Given the description of an element on the screen output the (x, y) to click on. 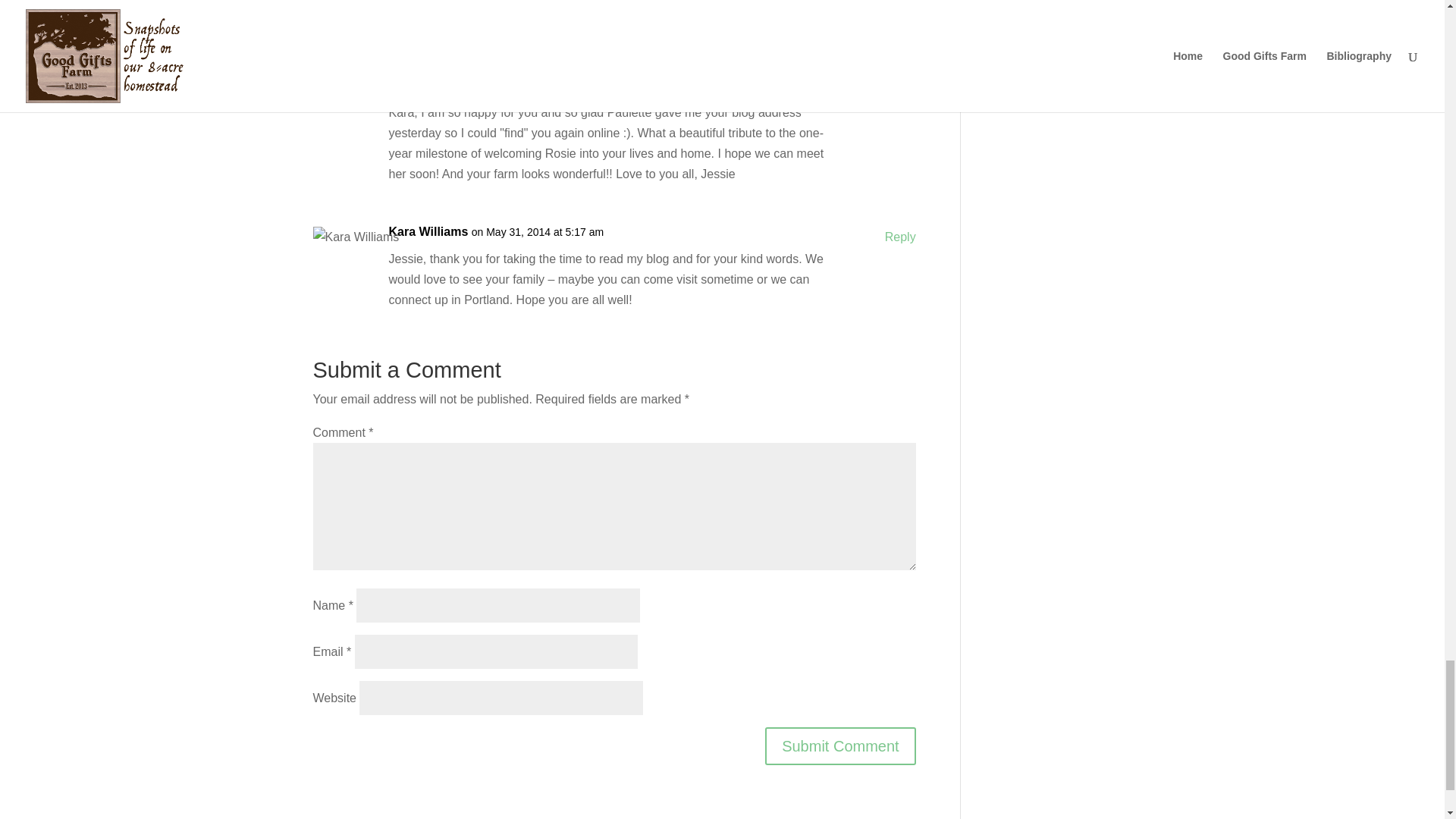
Reply (900, 90)
Submit Comment (840, 745)
Reply (900, 236)
Kara Williams (427, 231)
Hopeful (410, 85)
Submit Comment (840, 745)
